Given the description of an element on the screen output the (x, y) to click on. 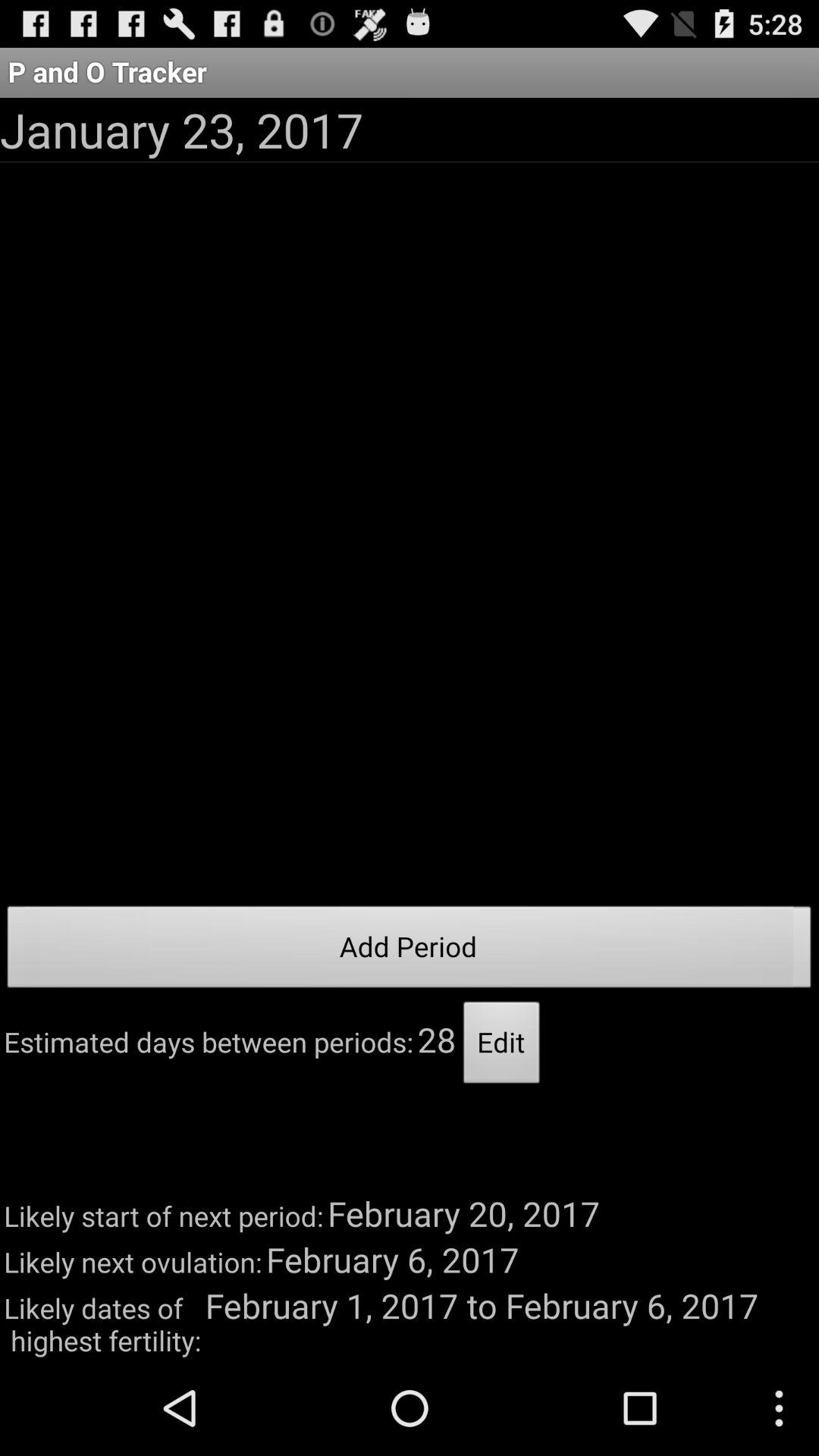
tap the icon above add period (181, 129)
